Given the description of an element on the screen output the (x, y) to click on. 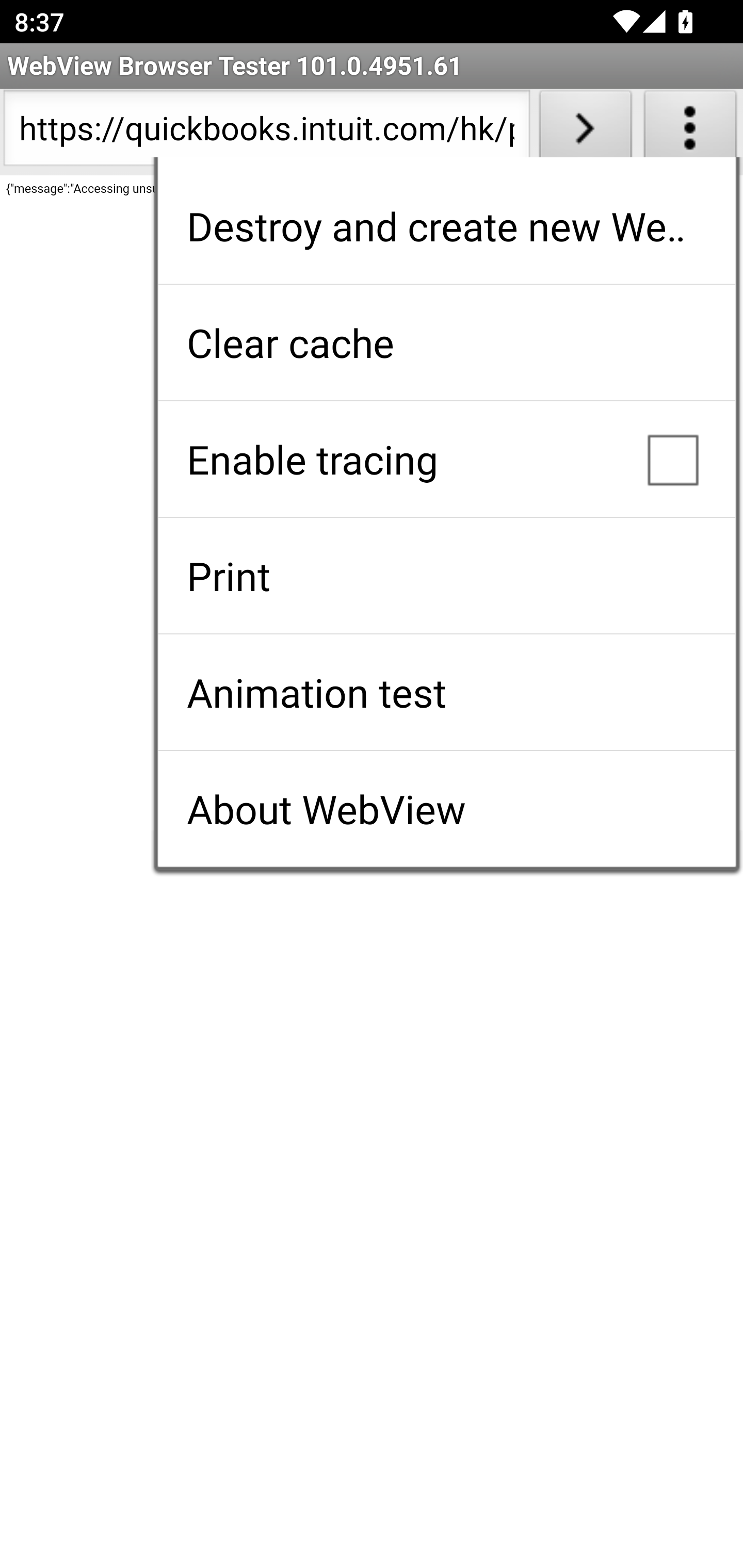
Destroy and create new WebView (446, 225)
Clear cache (446, 342)
Enable tracing (446, 459)
Print (446, 575)
Animation test (446, 692)
About WebView (446, 809)
